Given the description of an element on the screen output the (x, y) to click on. 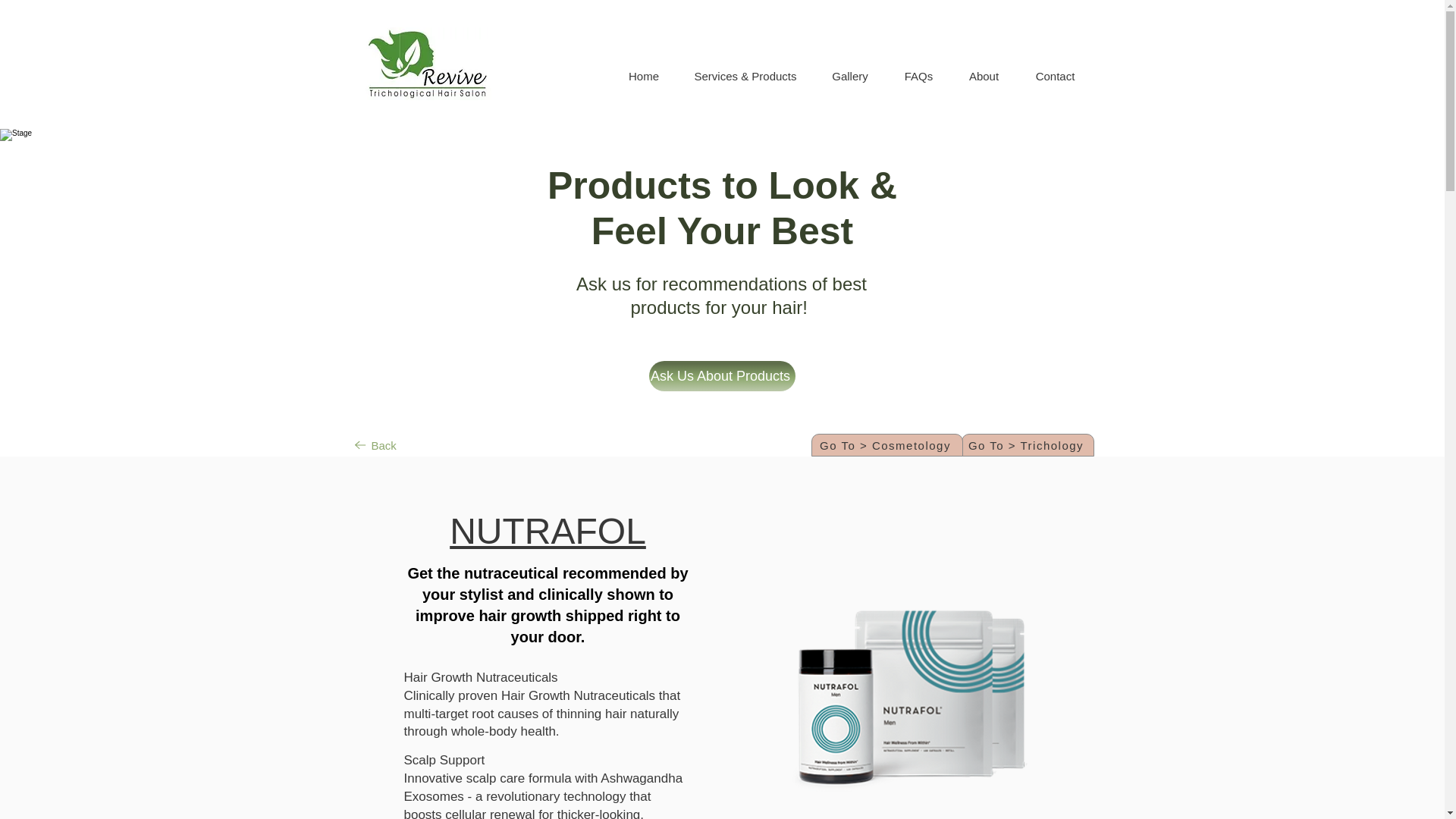
Contact (1055, 76)
Home (643, 76)
Ask Us About Products (721, 376)
NUTRAFOL (547, 531)
Back (376, 445)
FAQs (918, 76)
Gallery (849, 76)
About (983, 76)
